Given the description of an element on the screen output the (x, y) to click on. 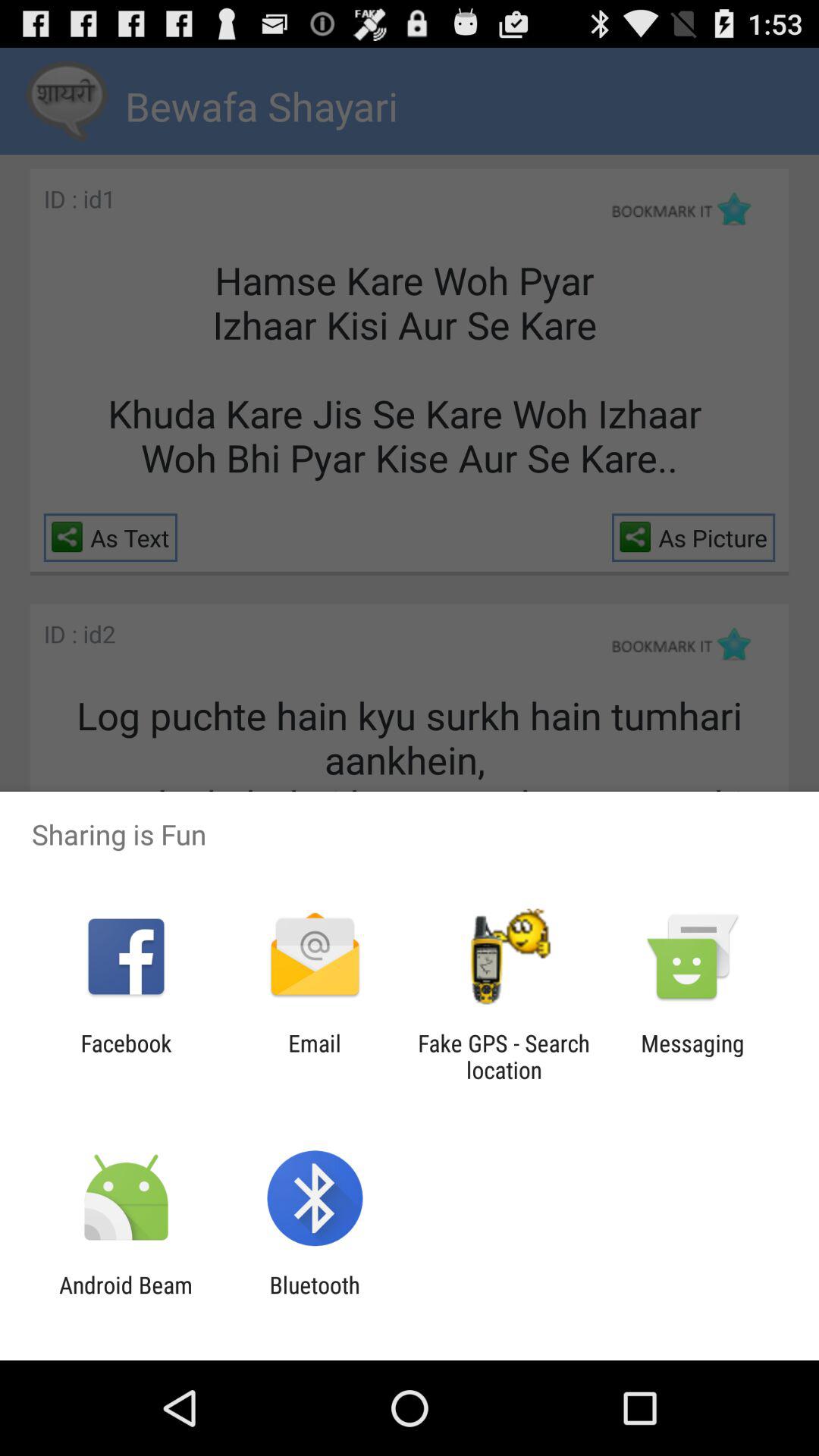
turn on the item to the right of the android beam app (314, 1298)
